Given the description of an element on the screen output the (x, y) to click on. 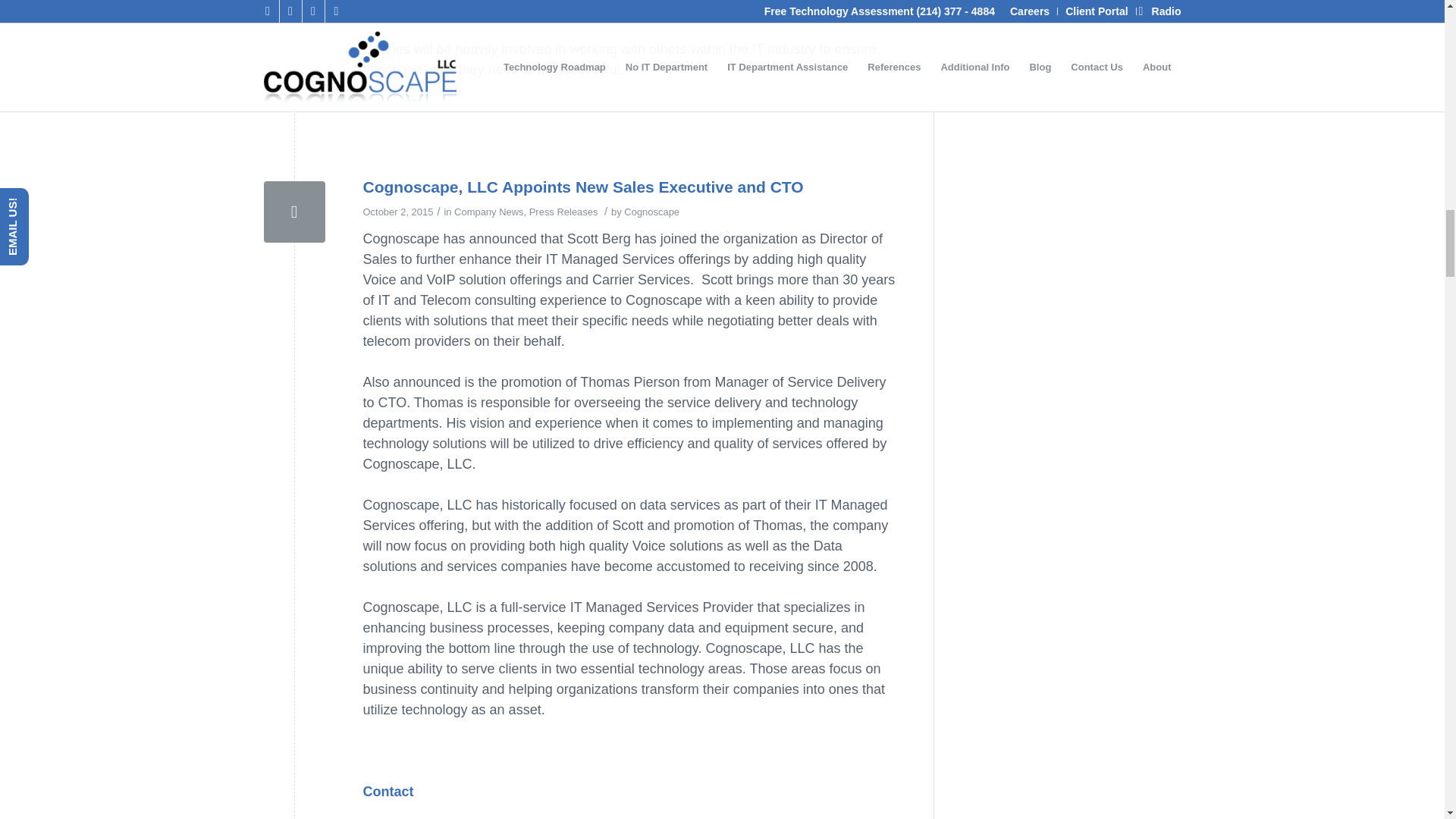
Cognoscape, LLC Appoints New Sales Executive and CTO (582, 186)
Press Releases (563, 211)
Company News (488, 211)
